Given the description of an element on the screen output the (x, y) to click on. 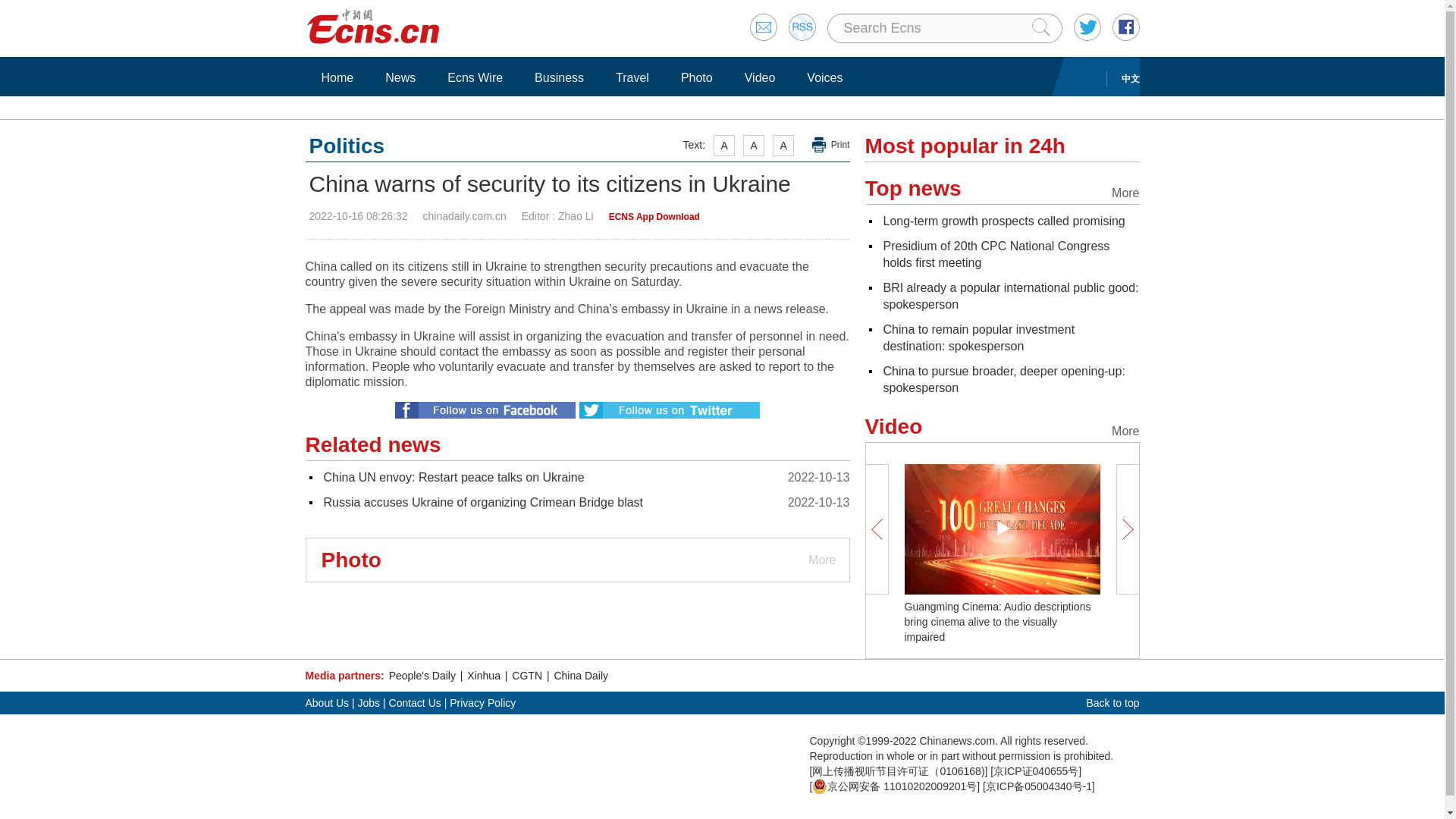
Video (760, 77)
China UN envoy: Restart peace talks on Ukraine (453, 477)
Voices (823, 77)
Travel (632, 77)
Photo (696, 77)
Ecns Wire (475, 77)
Search Ecns (935, 27)
News (400, 77)
ECNS App Download (654, 216)
Russia accuses Ukraine of organizing Crimean Bridge blast (483, 502)
